Given the description of an element on the screen output the (x, y) to click on. 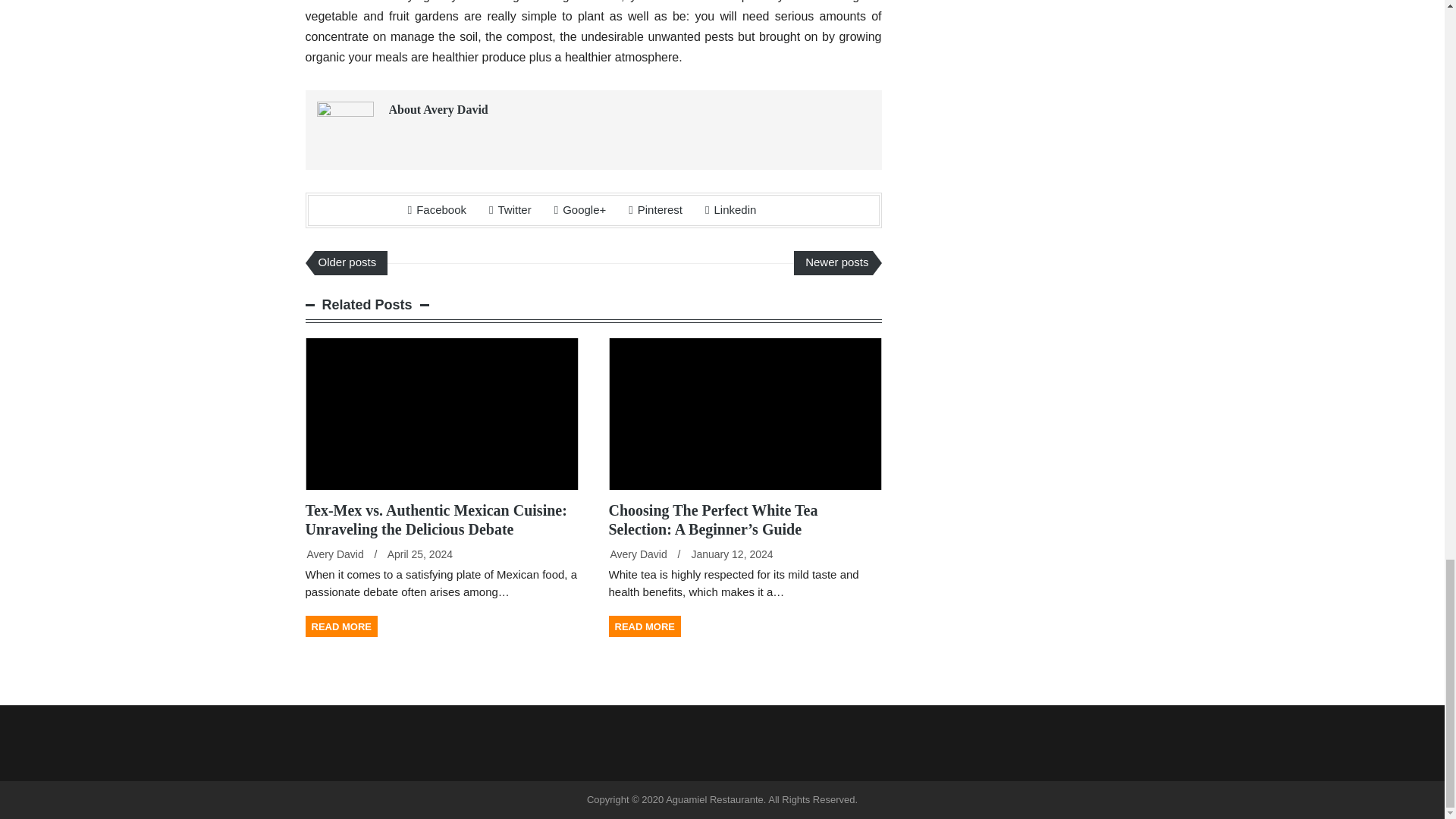
Avery David (638, 553)
READ MORE (340, 626)
Twitter (510, 209)
Facebook (436, 209)
Posts by Avery David (638, 553)
Avery David (333, 553)
Older posts (350, 262)
Linkedin (729, 209)
Posts by Avery David (333, 553)
